Given the description of an element on the screen output the (x, y) to click on. 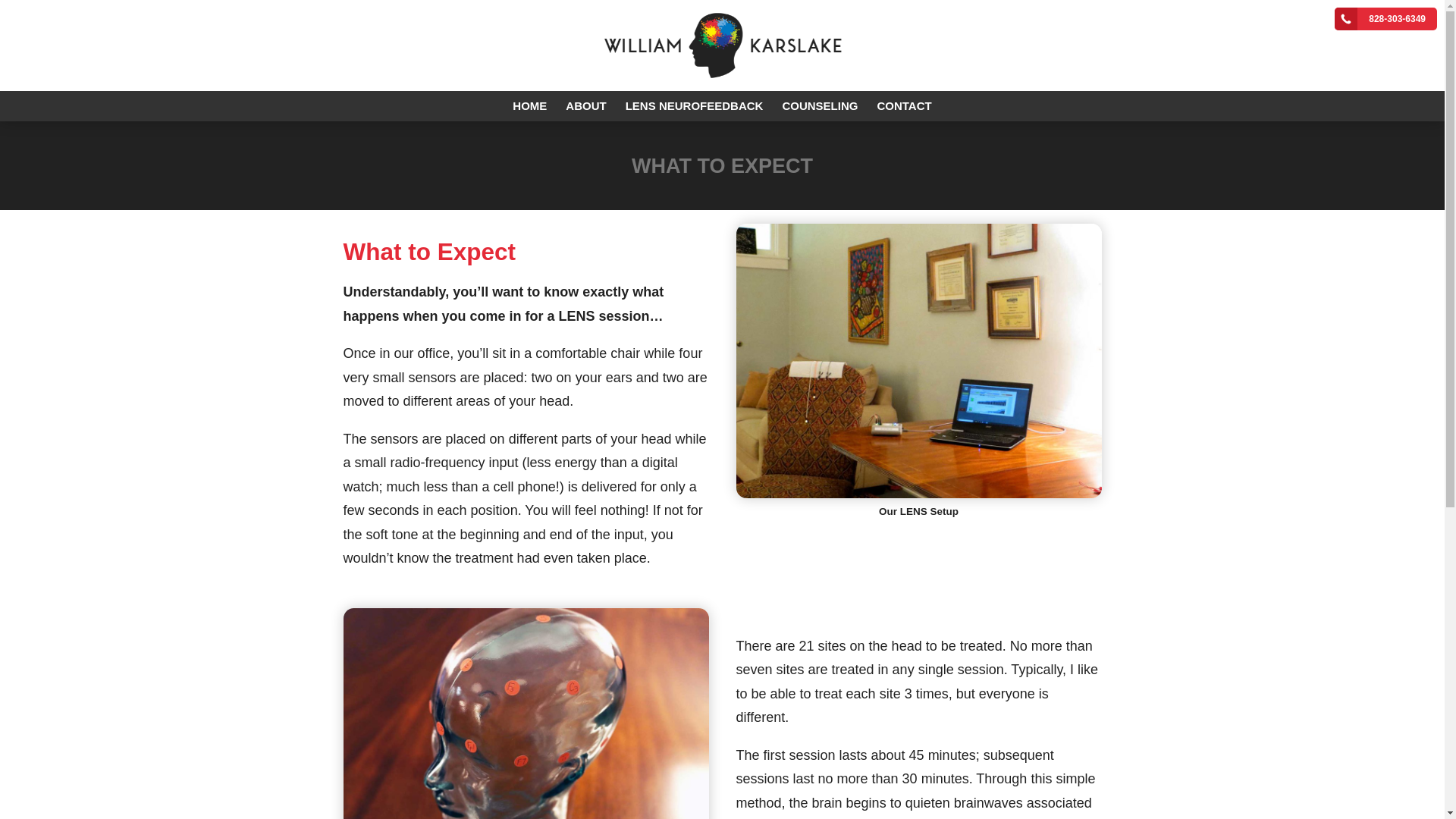
CONTACT (904, 105)
ABOUT (584, 105)
COUNSELING (819, 105)
LENS NEUROFEEDBACK (694, 105)
828-303-6349 (1386, 18)
HOME (529, 105)
